Given the description of an element on the screen output the (x, y) to click on. 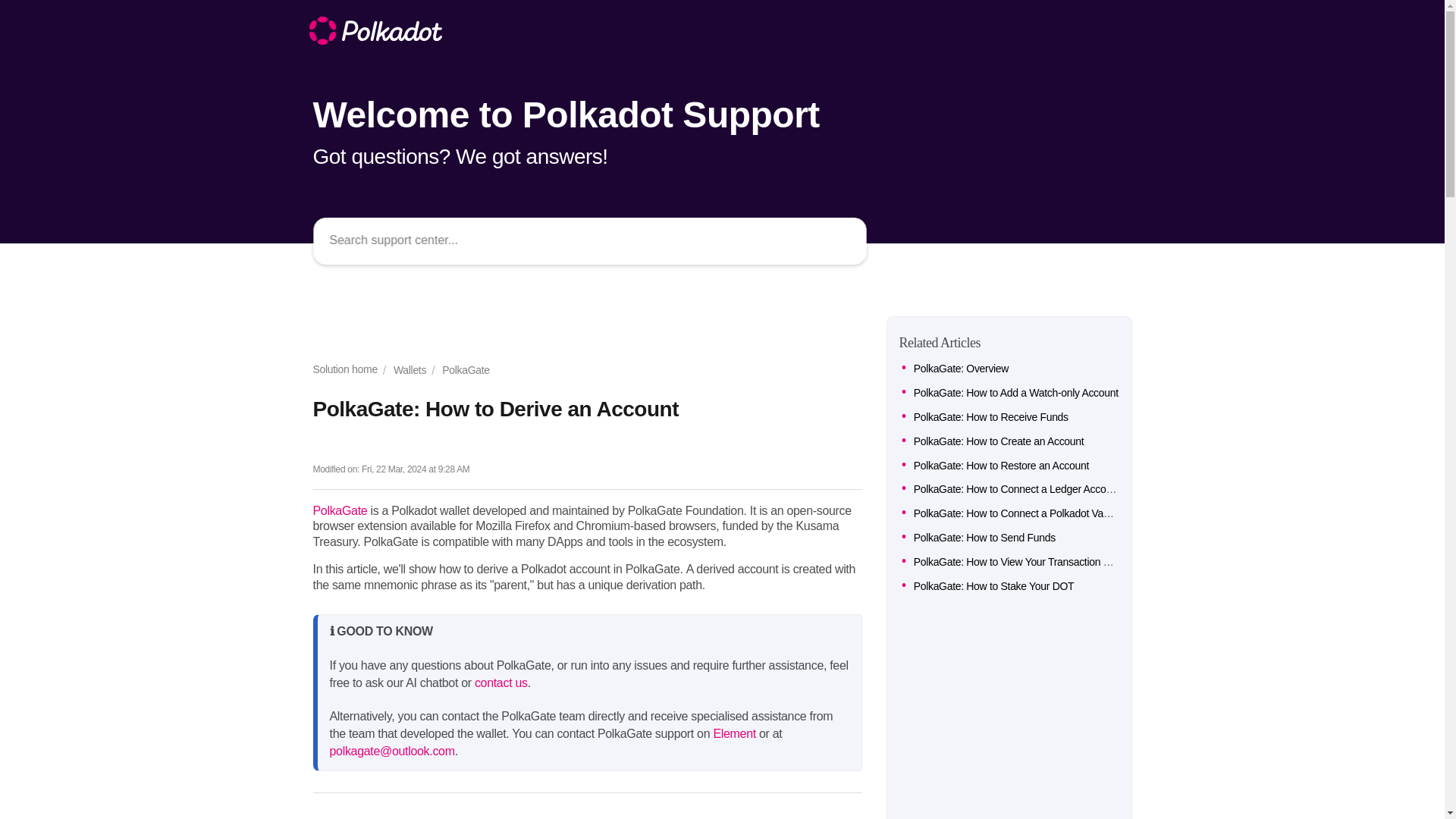
PolkaGate: How to Restore an Account (1001, 465)
Solution home (345, 370)
PolkaGate (339, 510)
PolkaGate: How to Create an Account (999, 440)
PolkaGate: How to View Your Transaction History (1024, 562)
PolkaGate: How to Receive Funds (991, 417)
PolkaGate: Overview (961, 368)
PolkaGate: How to Connect a Ledger Account (1016, 489)
PolkaGate: How to Connect a Polkadot Vault Account (1033, 512)
PolkaGate (459, 370)
